Given the description of an element on the screen output the (x, y) to click on. 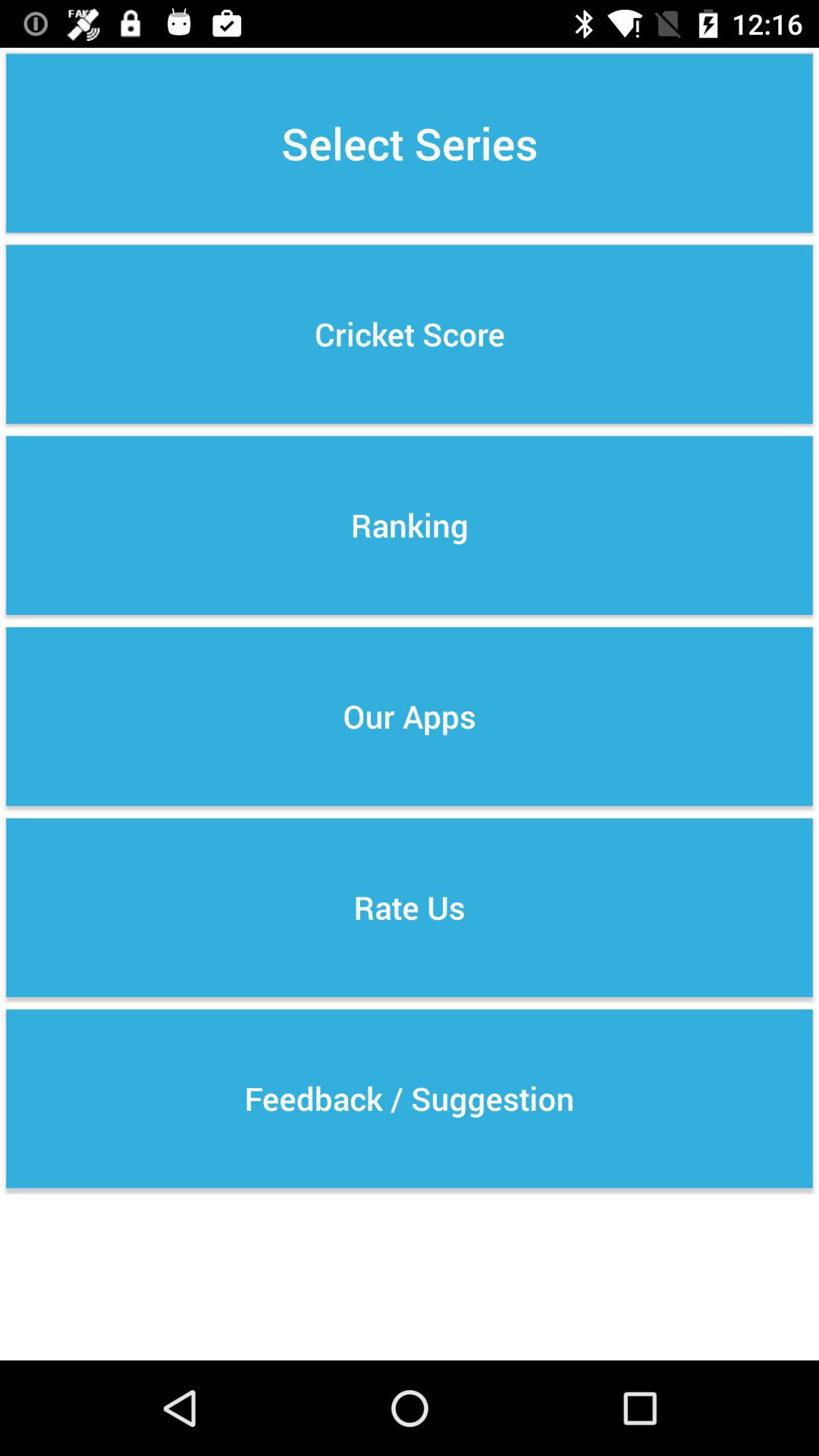
choose item above rate us icon (409, 716)
